Given the description of an element on the screen output the (x, y) to click on. 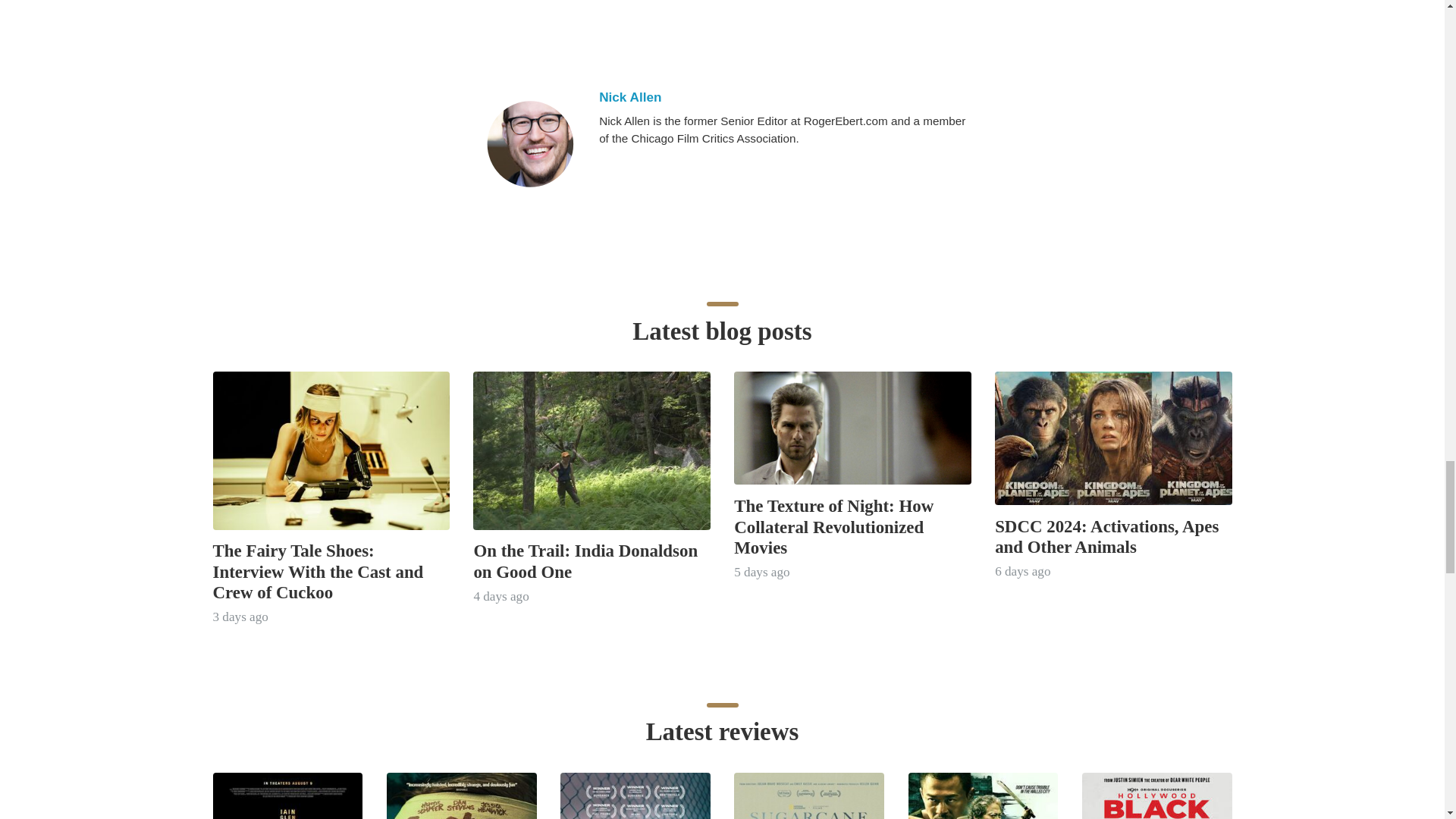
Nick Allen (782, 97)
Nick Allen (529, 143)
SDCC 2024: Activations, Apes and Other Animals (1106, 536)
The Texture of Night: How Collateral Revolutionized Movies (833, 526)
On the Trail: India Donaldson on Good One (585, 560)
